Given the description of an element on the screen output the (x, y) to click on. 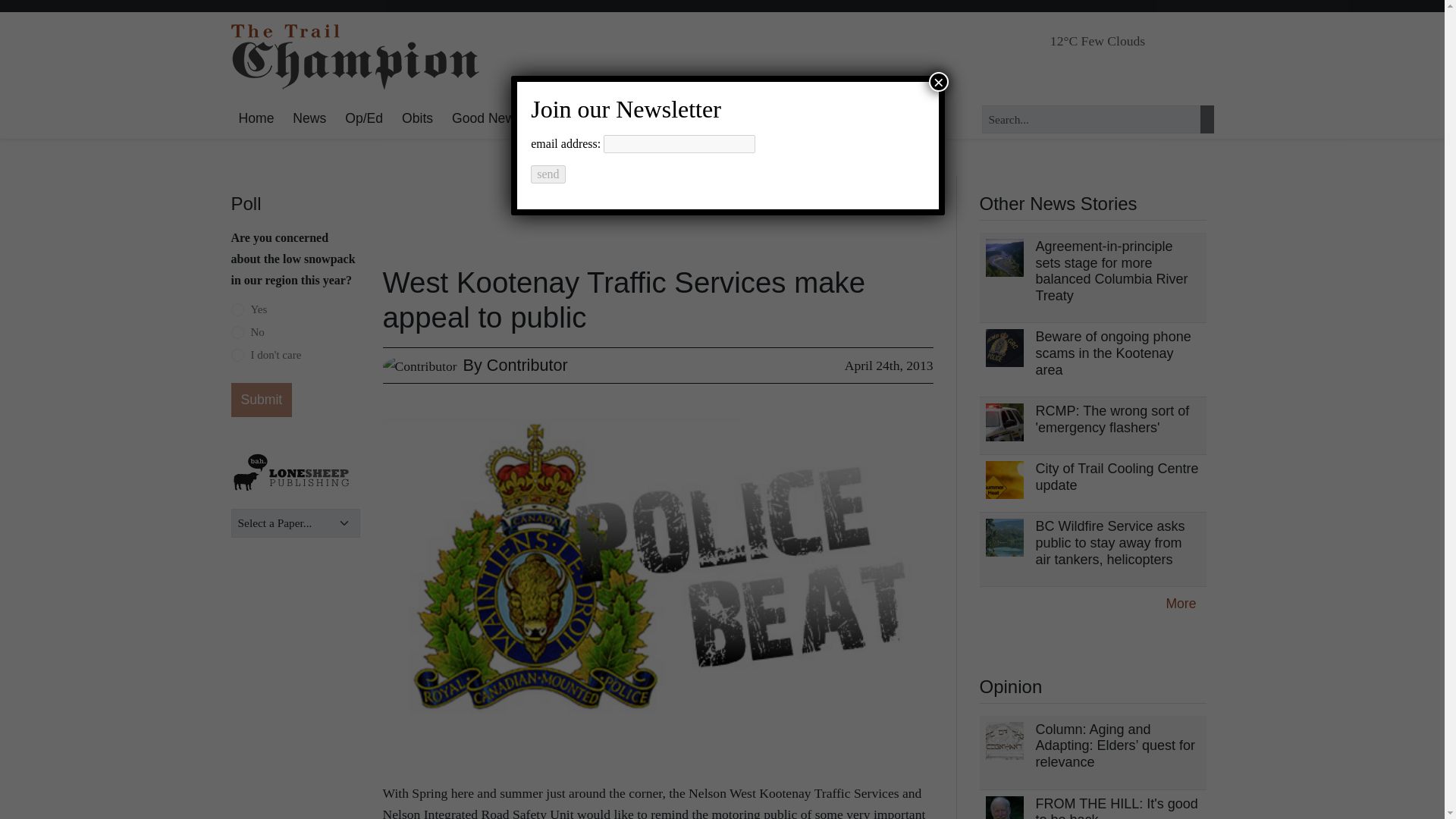
City of Trail Cooling Centre update (1116, 477)
Submit (261, 400)
Beware of ongoing phone scams in the Kootenay area (1113, 352)
Home (255, 118)
Good News Sunday (511, 118)
RCMP: The wrong sort of 'emergency flashers' (1112, 418)
Submit (261, 400)
Events (608, 118)
gpoll135bfdf59 (237, 332)
gpoll1892df81e (237, 309)
News (309, 118)
send (547, 174)
FROM THE HILL: It's good to be back (1116, 807)
